Given the description of an element on the screen output the (x, y) to click on. 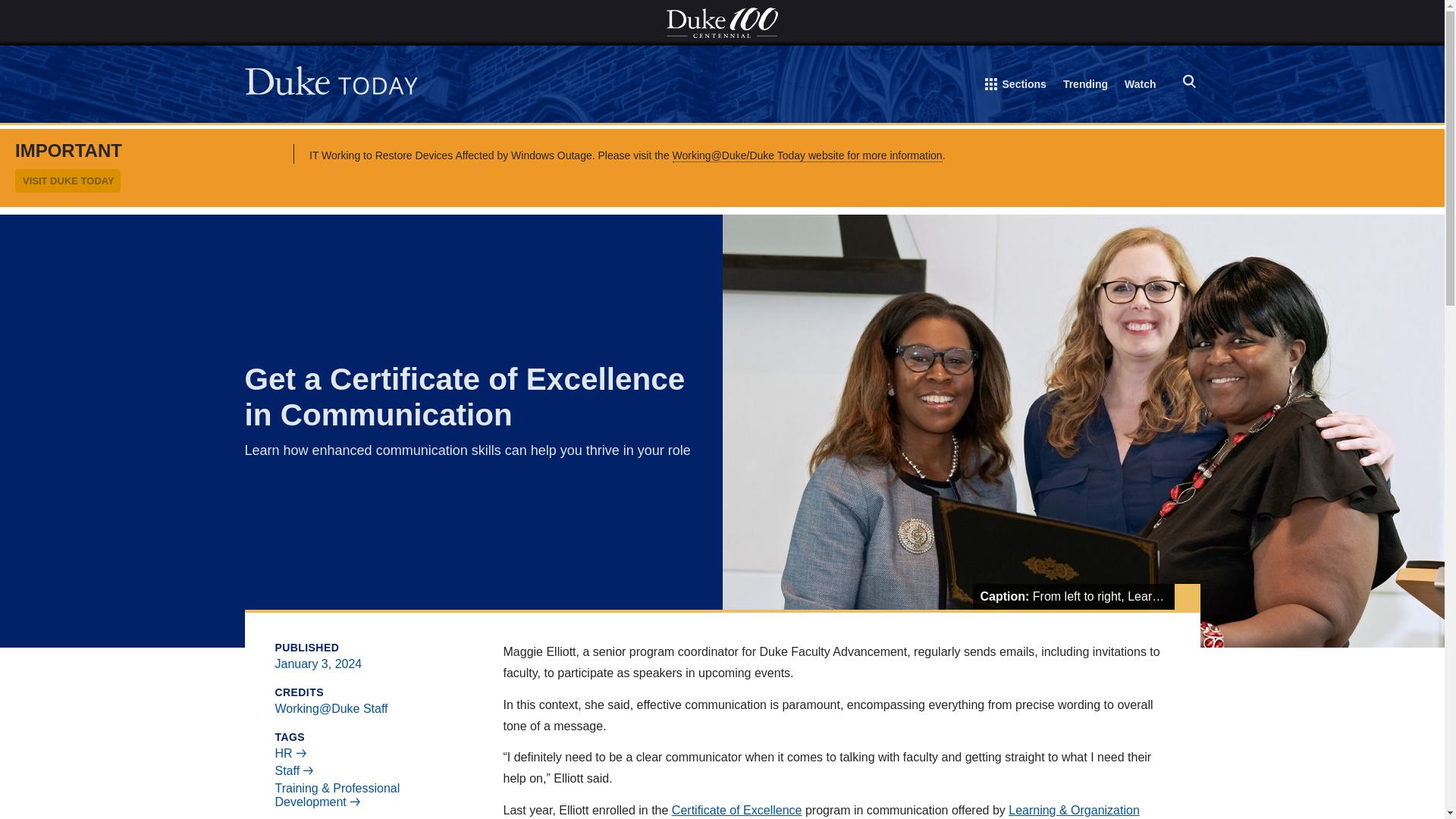
Trending (1085, 86)
Watch (1140, 86)
Sections (1015, 87)
